Given the description of an element on the screen output the (x, y) to click on. 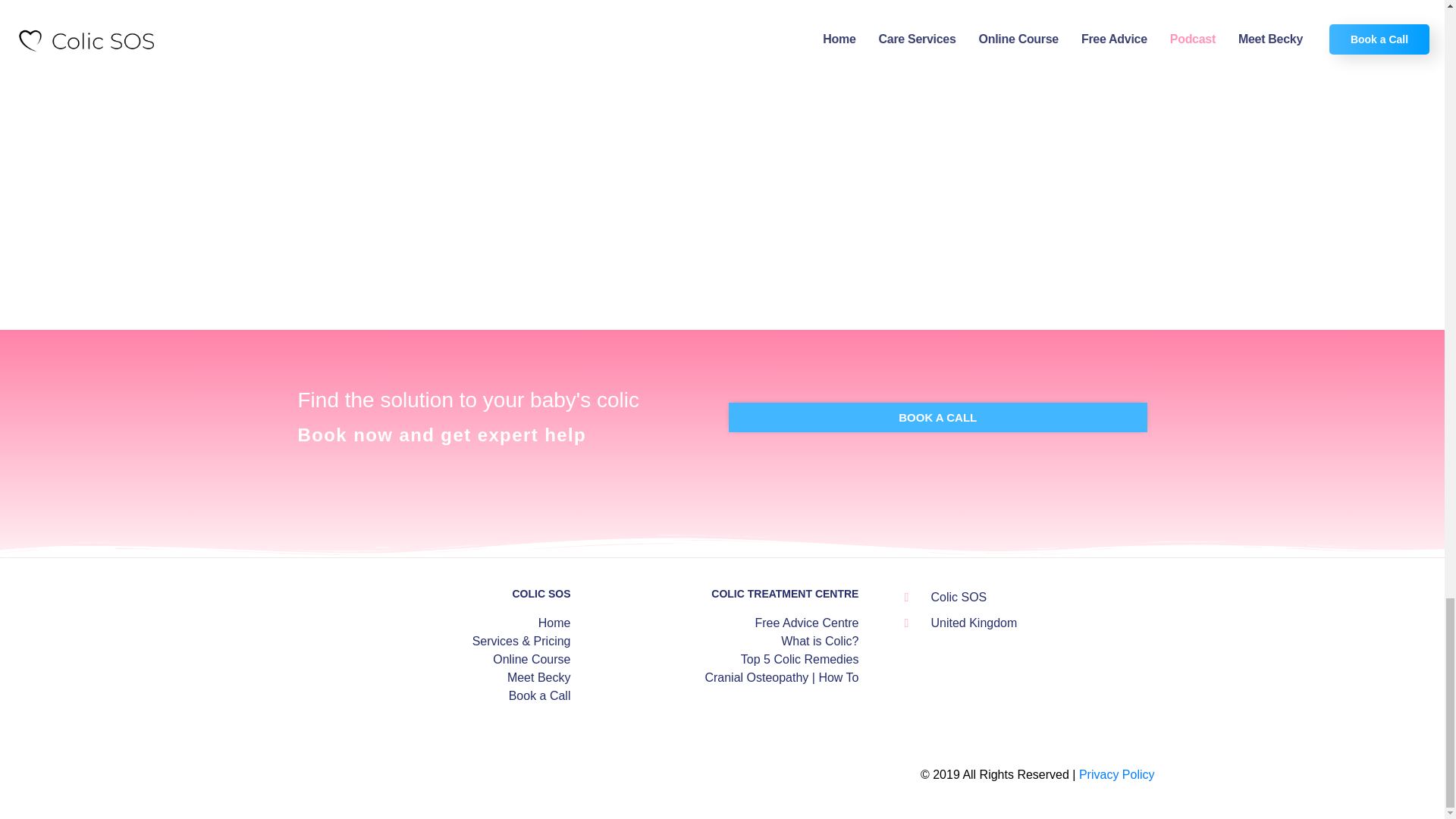
BOOK A CALL (938, 417)
Meet Becky (433, 678)
Book a Call (433, 696)
Home (433, 623)
Spotify Embed: Surviving Colic with Twins - Abi's Story  (613, 56)
Privacy Policy (1116, 774)
Online Course (433, 659)
Spotify Embed: The Colic Diaries - My Story (613, 205)
What is Colic? (722, 641)
Free Advice Centre (722, 623)
Top 5 Colic Remedies (722, 659)
